Given the description of an element on the screen output the (x, y) to click on. 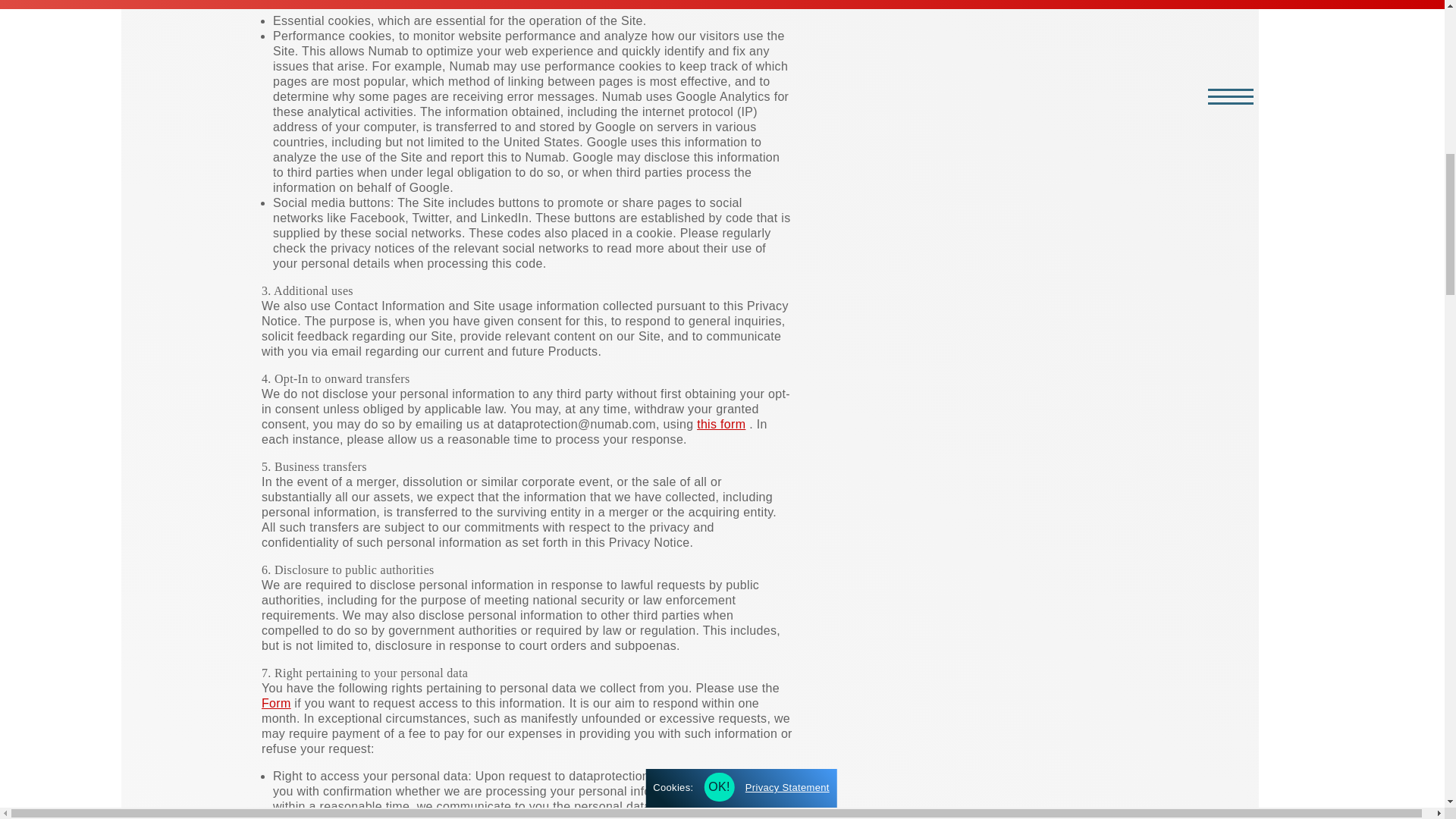
Form (276, 703)
this form (721, 423)
